Given the description of an element on the screen output the (x, y) to click on. 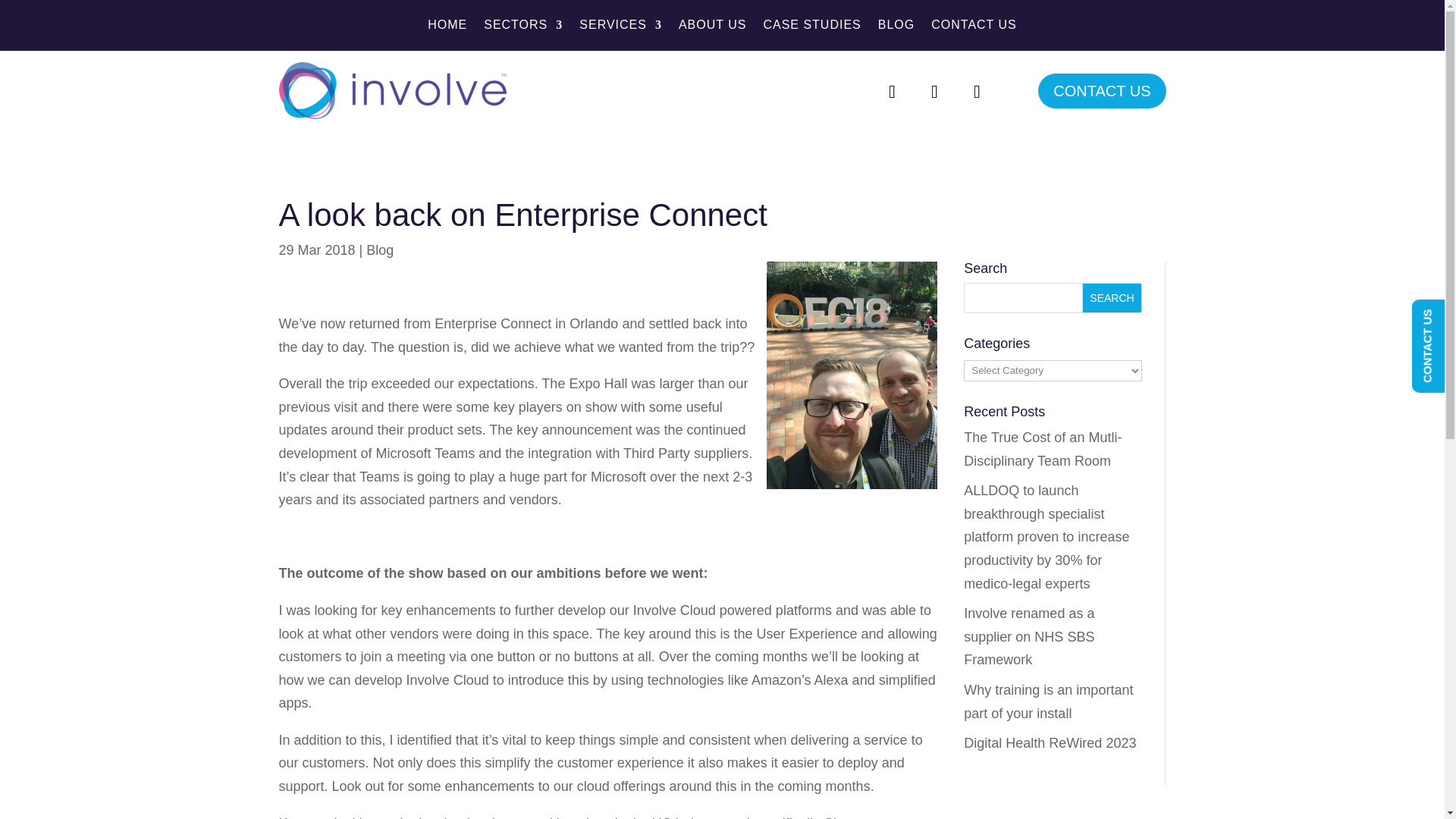
Involve (392, 90)
Follow on X (933, 91)
Follow on LinkedIn (976, 91)
Search (1111, 297)
Follow on Facebook (891, 91)
HOME (447, 28)
SECTORS (522, 28)
